Given the description of an element on the screen output the (x, y) to click on. 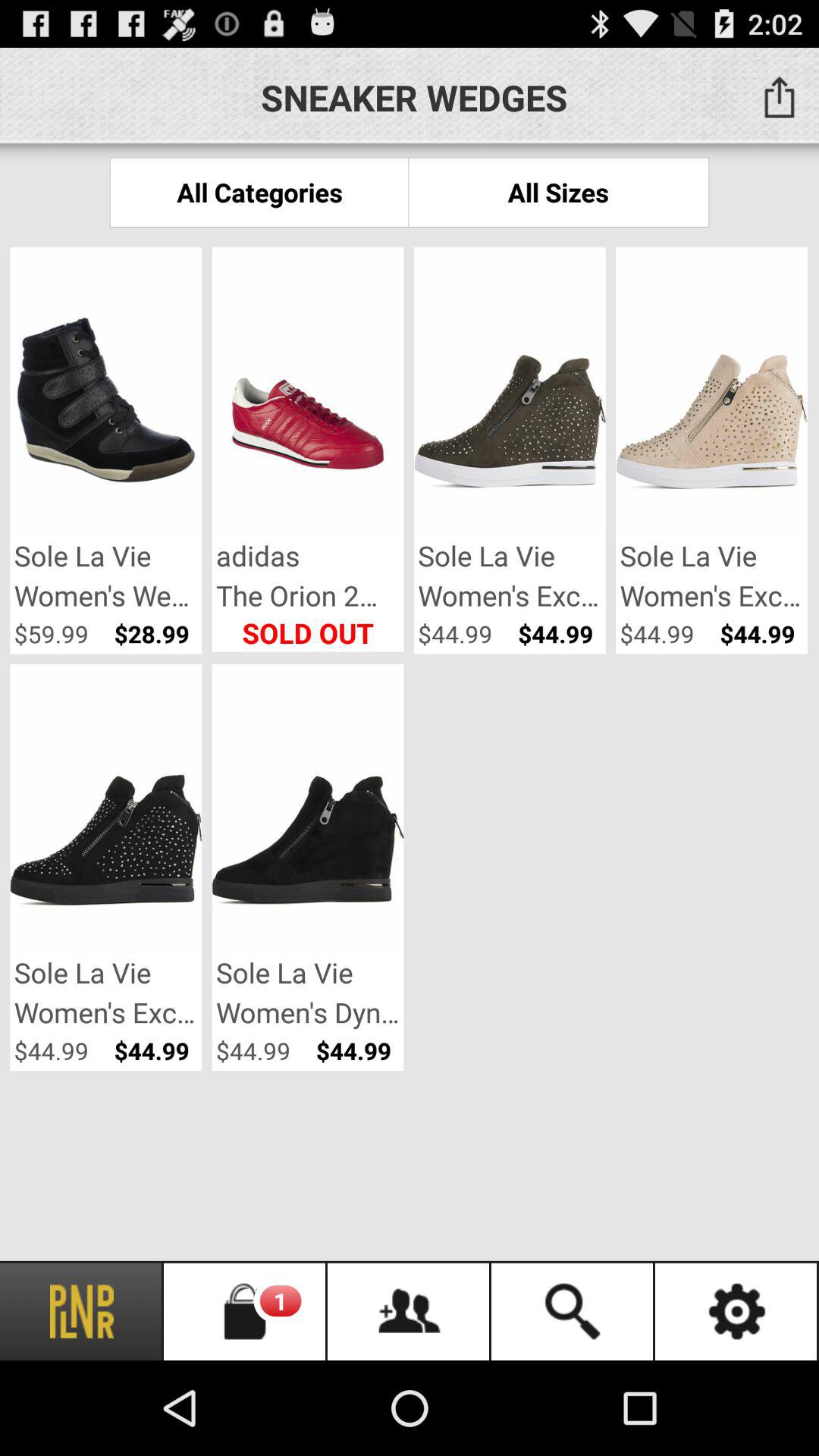
turn on all categories item (259, 192)
